Given the description of an element on the screen output the (x, y) to click on. 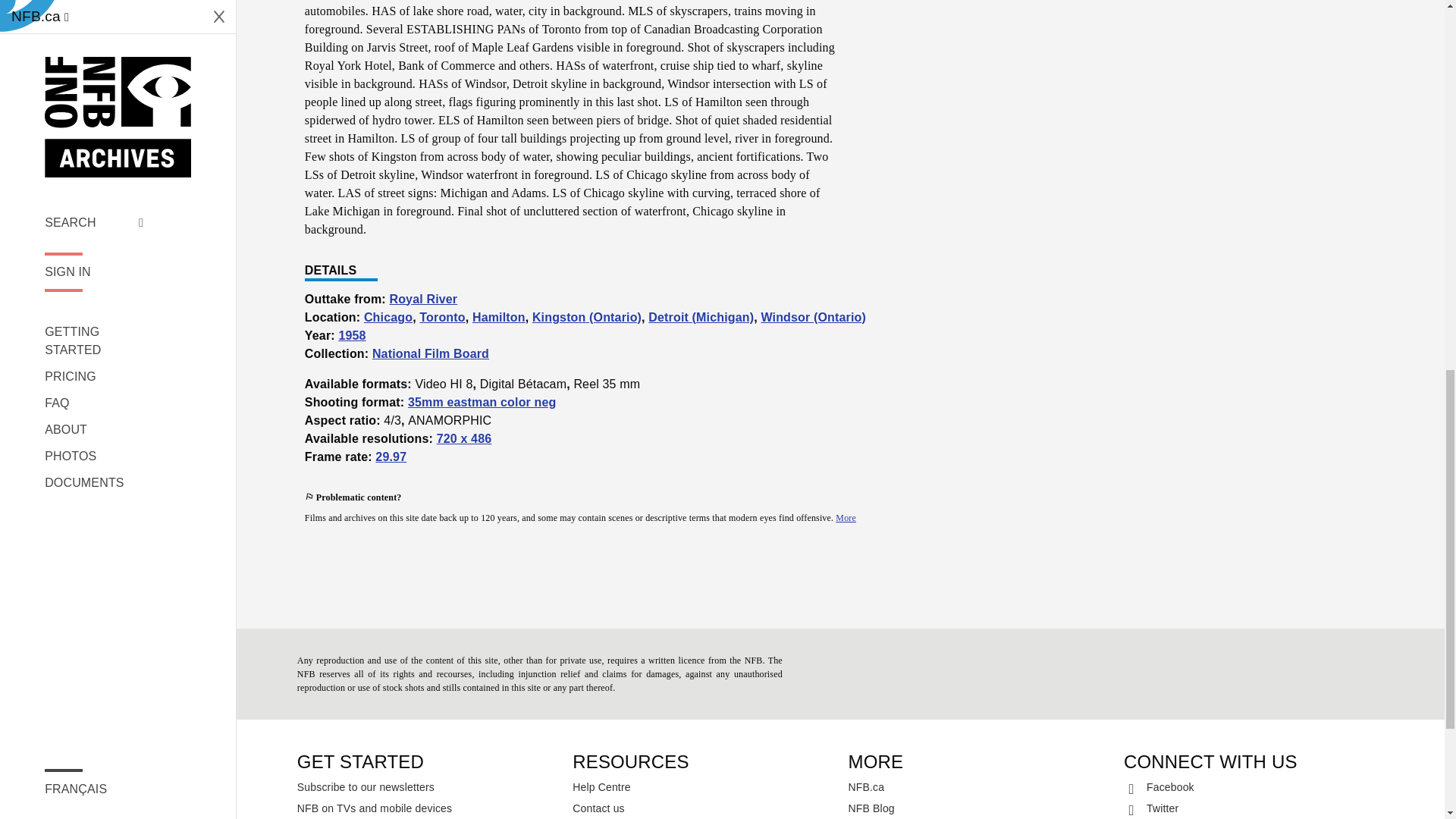
Hamilton (498, 317)
Chicago (388, 317)
Toronto (441, 317)
Royal River (422, 298)
